Given the description of an element on the screen output the (x, y) to click on. 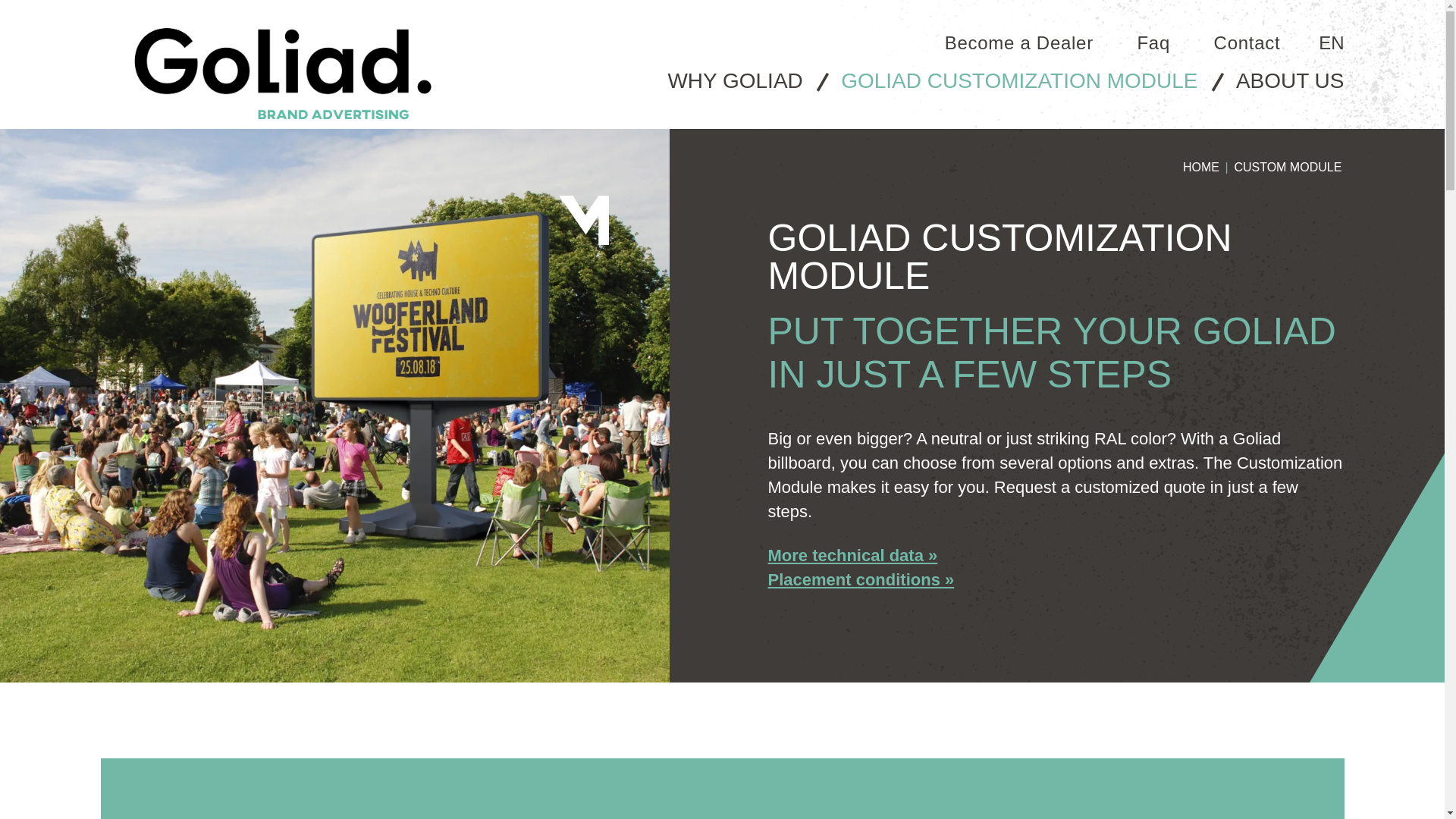
Become a Dealer (1019, 42)
Faq (1153, 42)
CUSTOM MODULE (1287, 167)
ABOUT US (1289, 80)
GOLIAD CUSTOMIZATION MODULE (1019, 80)
Goliad (282, 74)
WHY GOLIAD (734, 80)
HOME (1200, 167)
Contact (1246, 42)
